Given the description of an element on the screen output the (x, y) to click on. 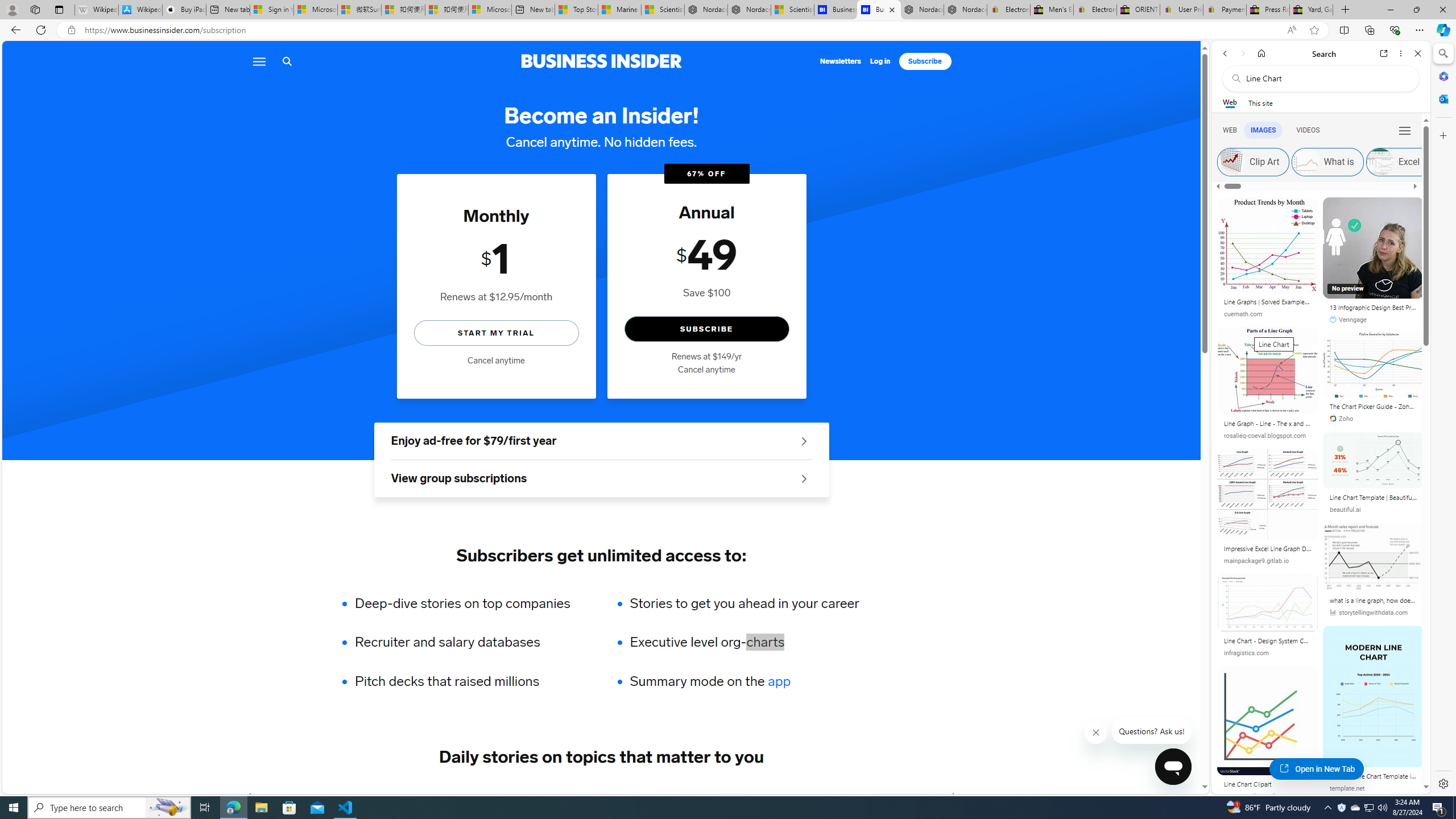
Zoho (1341, 418)
storytellingwithdata.com (1368, 612)
Enjoy ad-free for $79/first year (601, 441)
Log in (880, 61)
Recruiter and salary databases (470, 642)
